Given the description of an element on the screen output the (x, y) to click on. 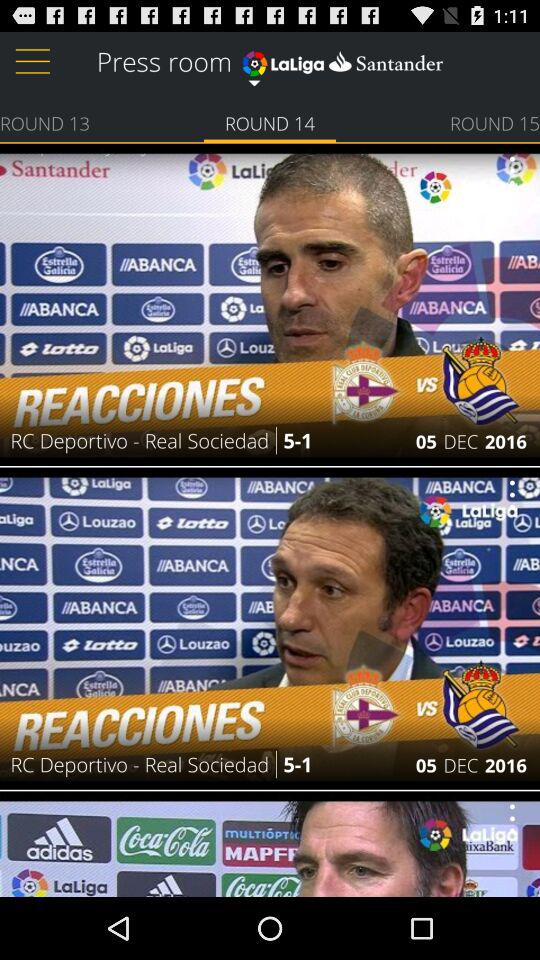
scroll to the round 13 app (45, 122)
